Given the description of an element on the screen output the (x, y) to click on. 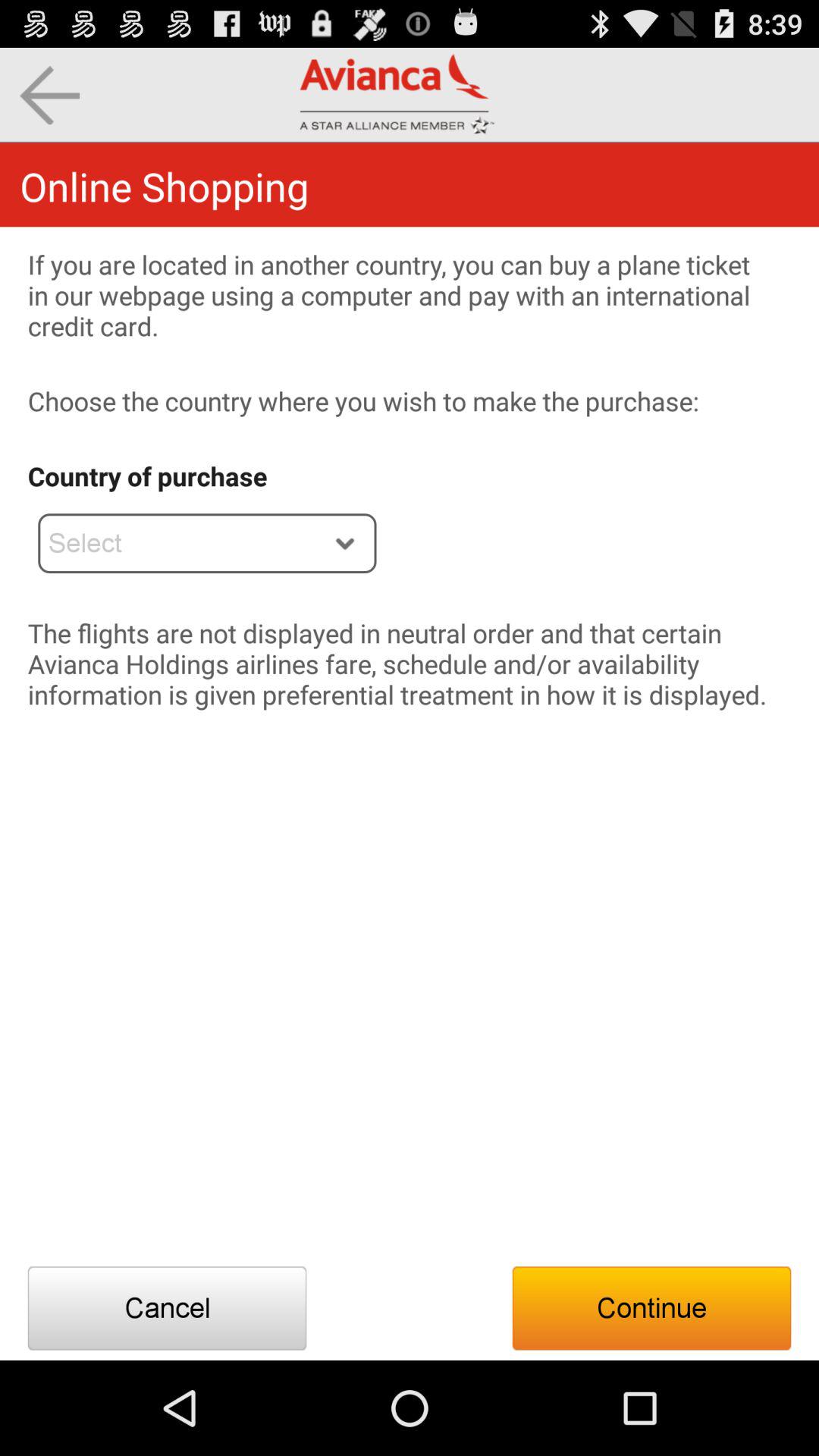
goes to the previous page (49, 94)
